Given the description of an element on the screen output the (x, y) to click on. 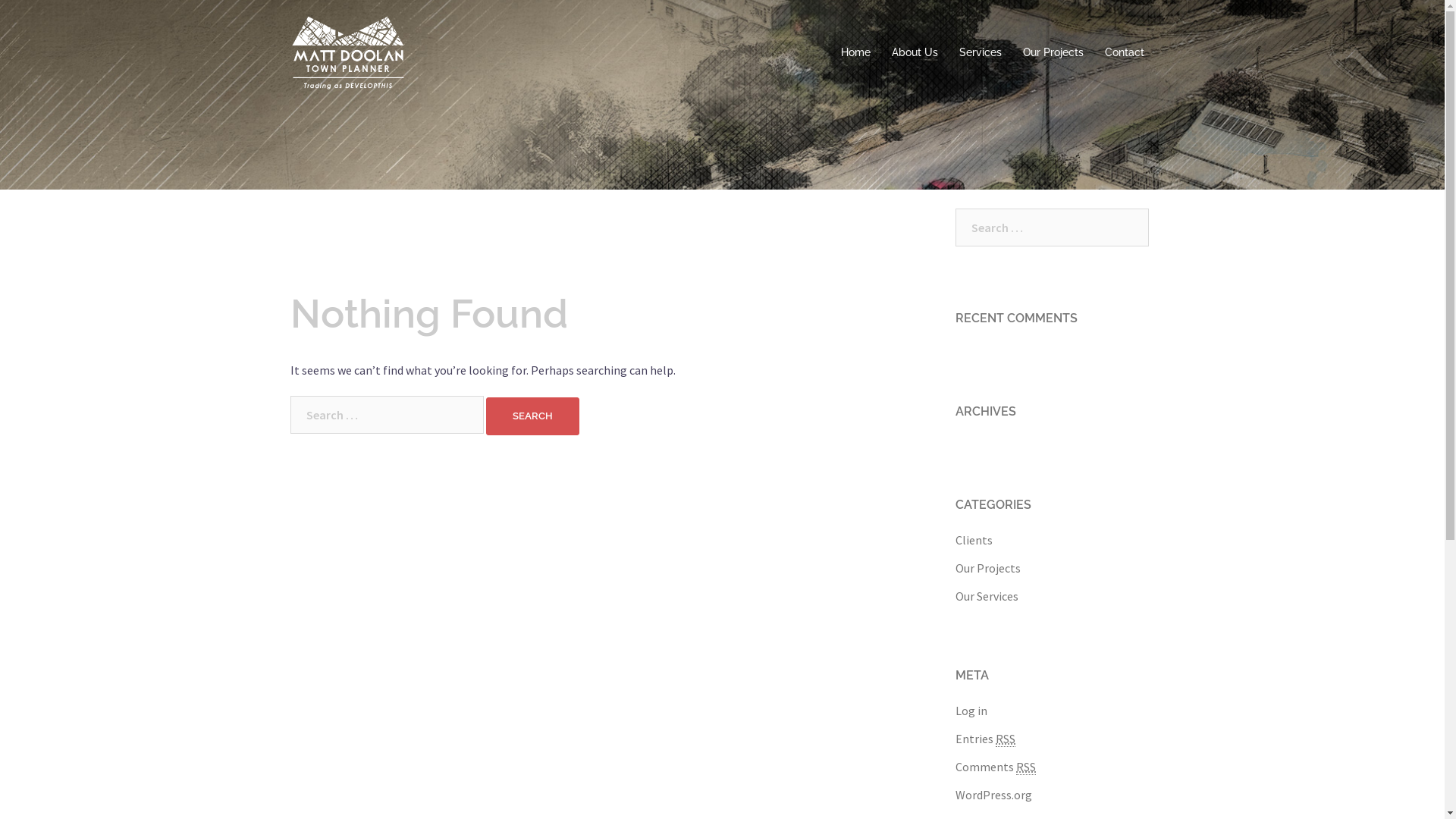
Home Element type: text (854, 52)
Our Services Element type: text (986, 595)
Contact Element type: text (1123, 52)
Search Element type: text (46, 18)
About Us Element type: text (914, 52)
Search Element type: text (531, 416)
Our Projects Element type: text (1052, 52)
Log in Element type: text (971, 710)
Our Projects Element type: text (987, 567)
Services Element type: text (979, 52)
Clients Element type: text (973, 539)
Comments RSS Element type: text (995, 767)
WordPress.org Element type: text (993, 794)
Entries RSS Element type: text (985, 738)
Skip to content Element type: text (0, 0)
Matt Doolan Town Planner Element type: hover (347, 51)
